Given the description of an element on the screen output the (x, y) to click on. 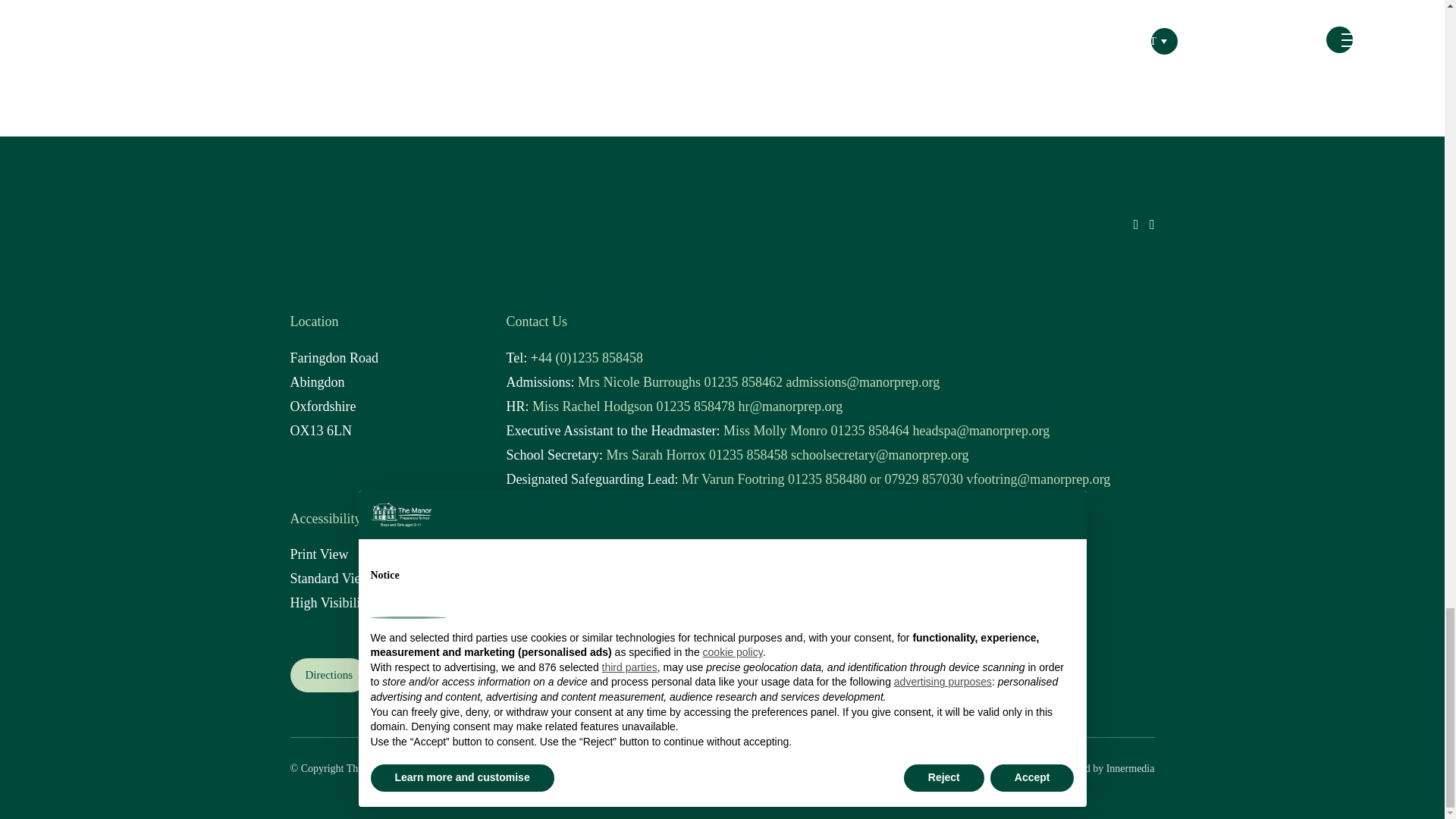
Switch to High Visibility (330, 602)
Switch to Print (318, 554)
Switch to Standard Visibility (329, 578)
